Given the description of an element on the screen output the (x, y) to click on. 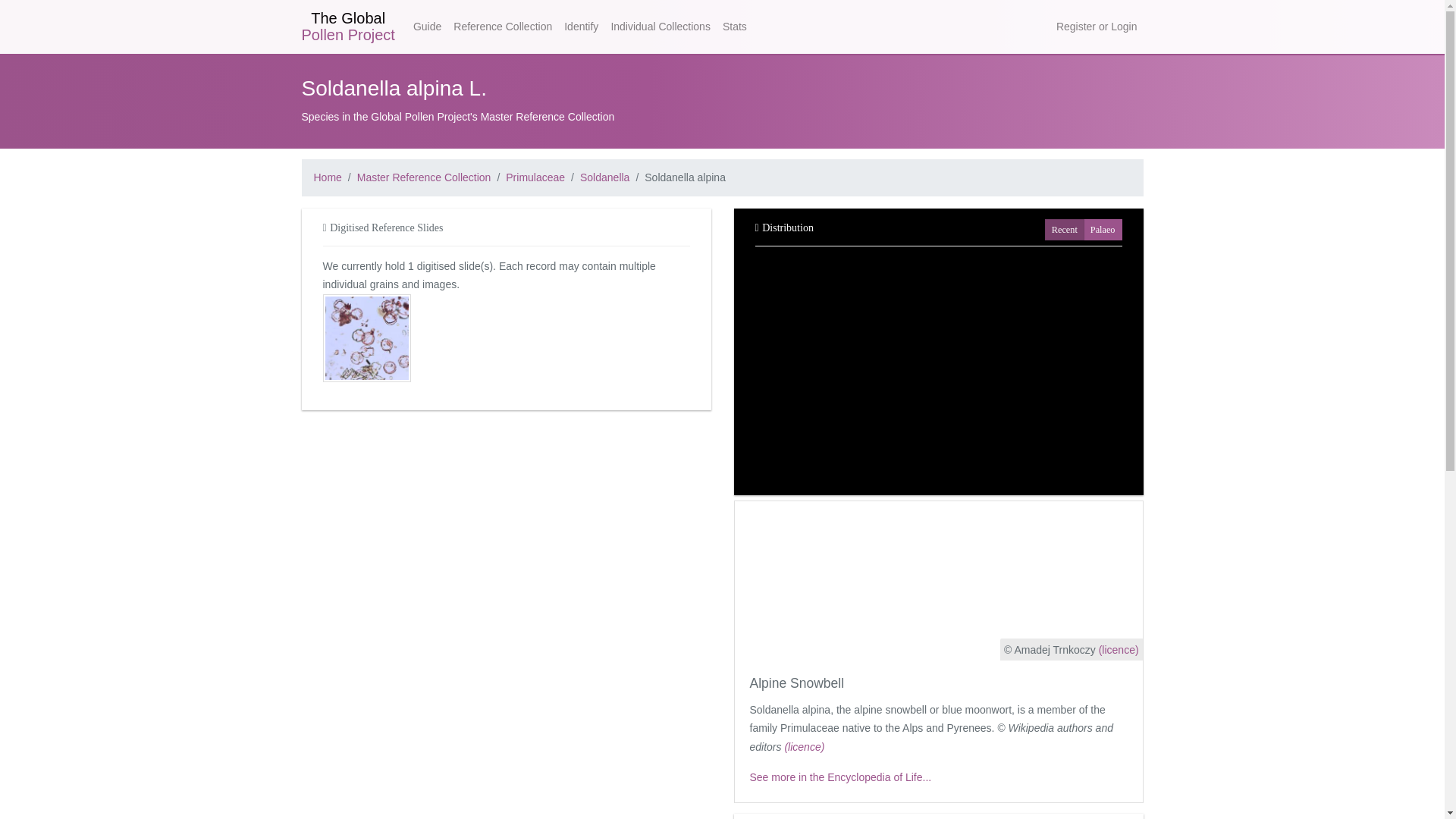
Soldanella alpina (685, 177)
palaeo (1095, 227)
Register or Login (1095, 26)
Reference Collection (501, 26)
Identify (580, 26)
Master Reference Collection (424, 177)
See more in the Encyclopedia of Life... (840, 776)
Home (328, 177)
Individual Collections (660, 26)
